Given the description of an element on the screen output the (x, y) to click on. 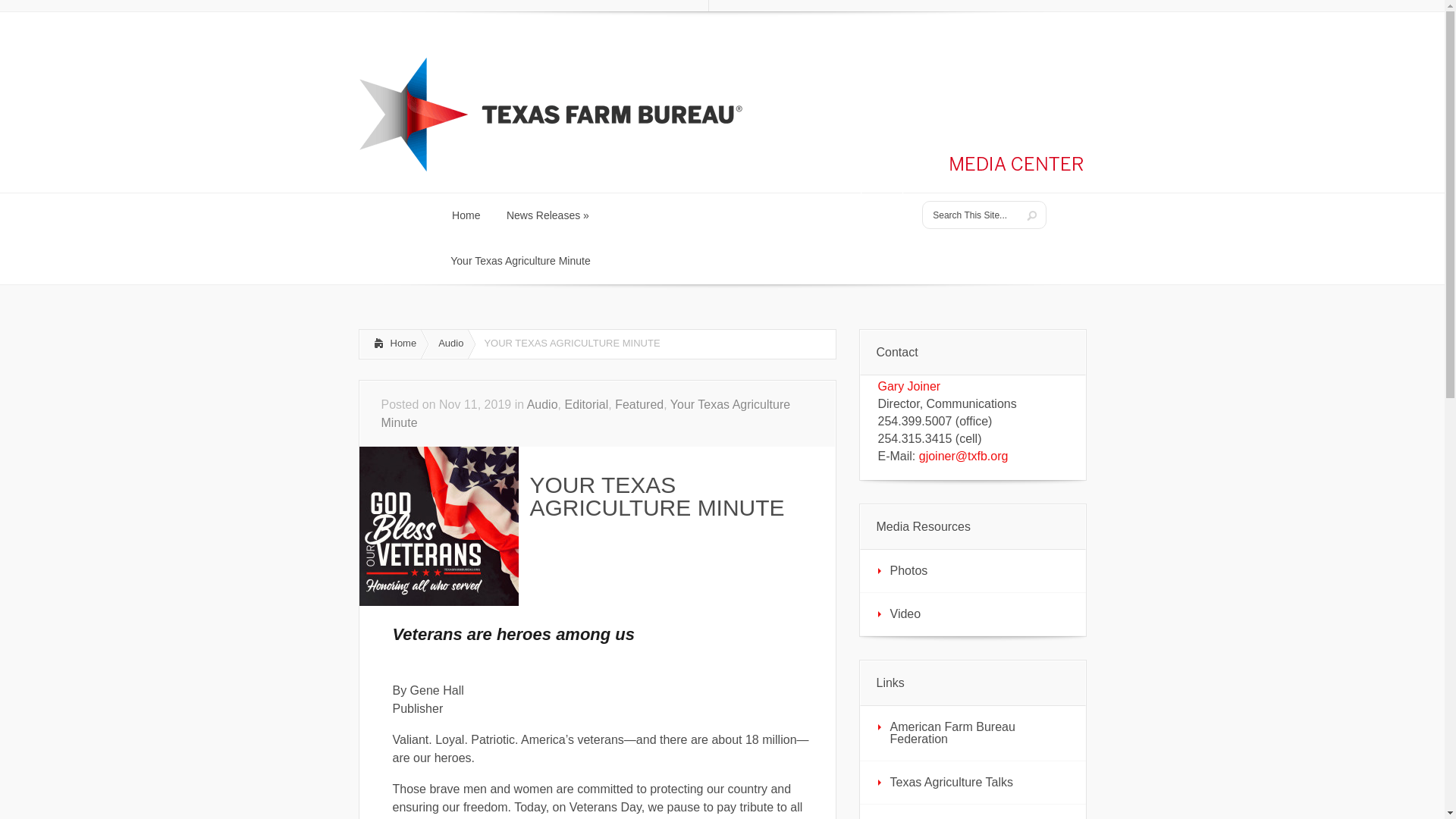
Editorial (586, 404)
Featured (638, 404)
Texas Agriculture Talks (973, 782)
Home (400, 5)
Gary Joiner (908, 386)
Your Texas Agriculture Minute (466, 215)
Your Texas Agriculture Minute (613, 5)
Photos (613, 5)
News Releases (973, 570)
Video (479, 5)
Home (973, 613)
Audio (389, 343)
Audio (542, 404)
Your Texas Agriculture Minute (448, 343)
